Given the description of an element on the screen output the (x, y) to click on. 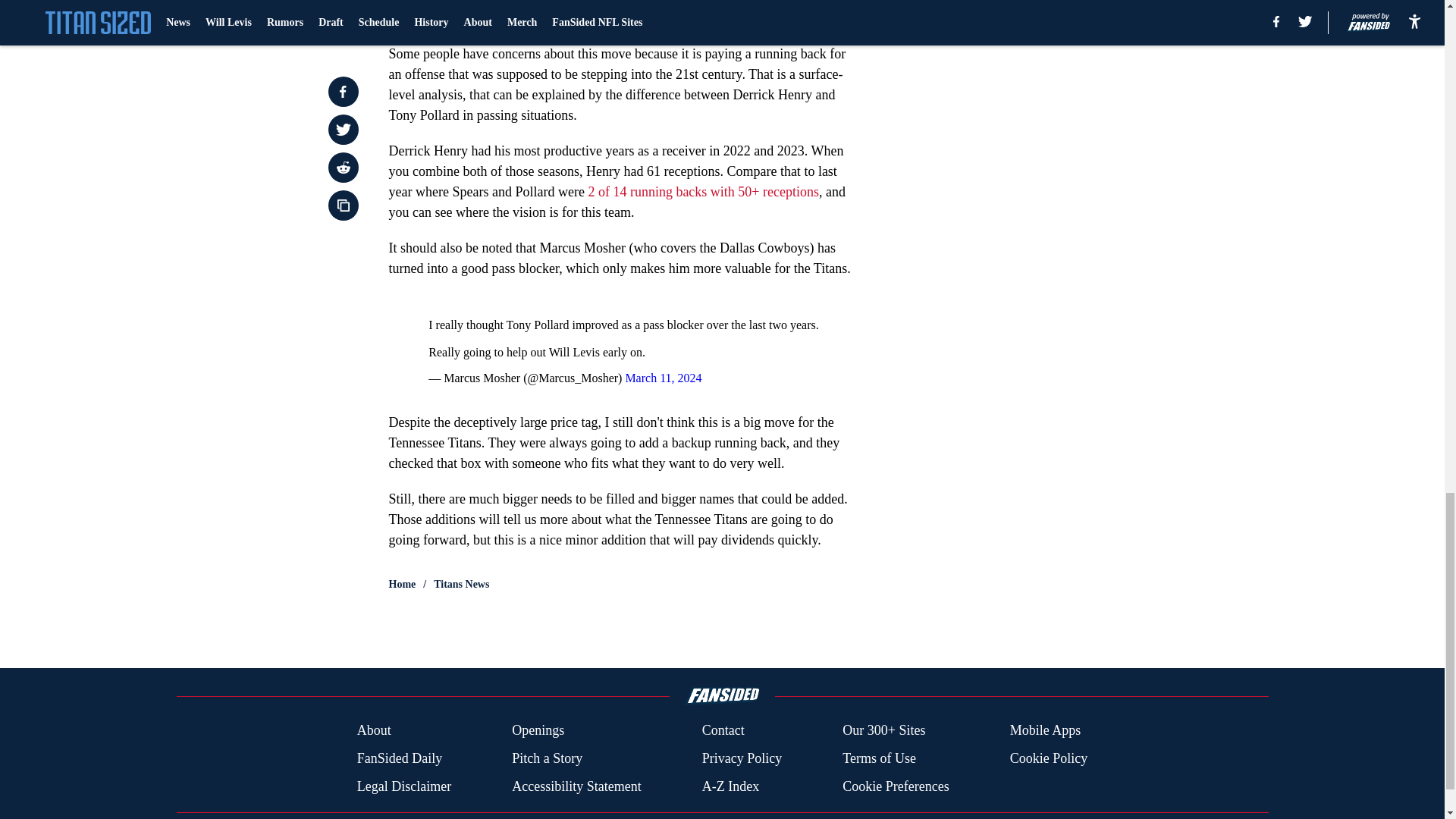
Titans News (461, 584)
Home (401, 584)
About (373, 730)
Openings (538, 730)
Pitch a Story (547, 758)
March 11, 2024 (662, 377)
Cookie Policy (1048, 758)
Accessibility Statement (576, 786)
Terms of Use (879, 758)
Legal Disclaimer (403, 786)
